Given the description of an element on the screen output the (x, y) to click on. 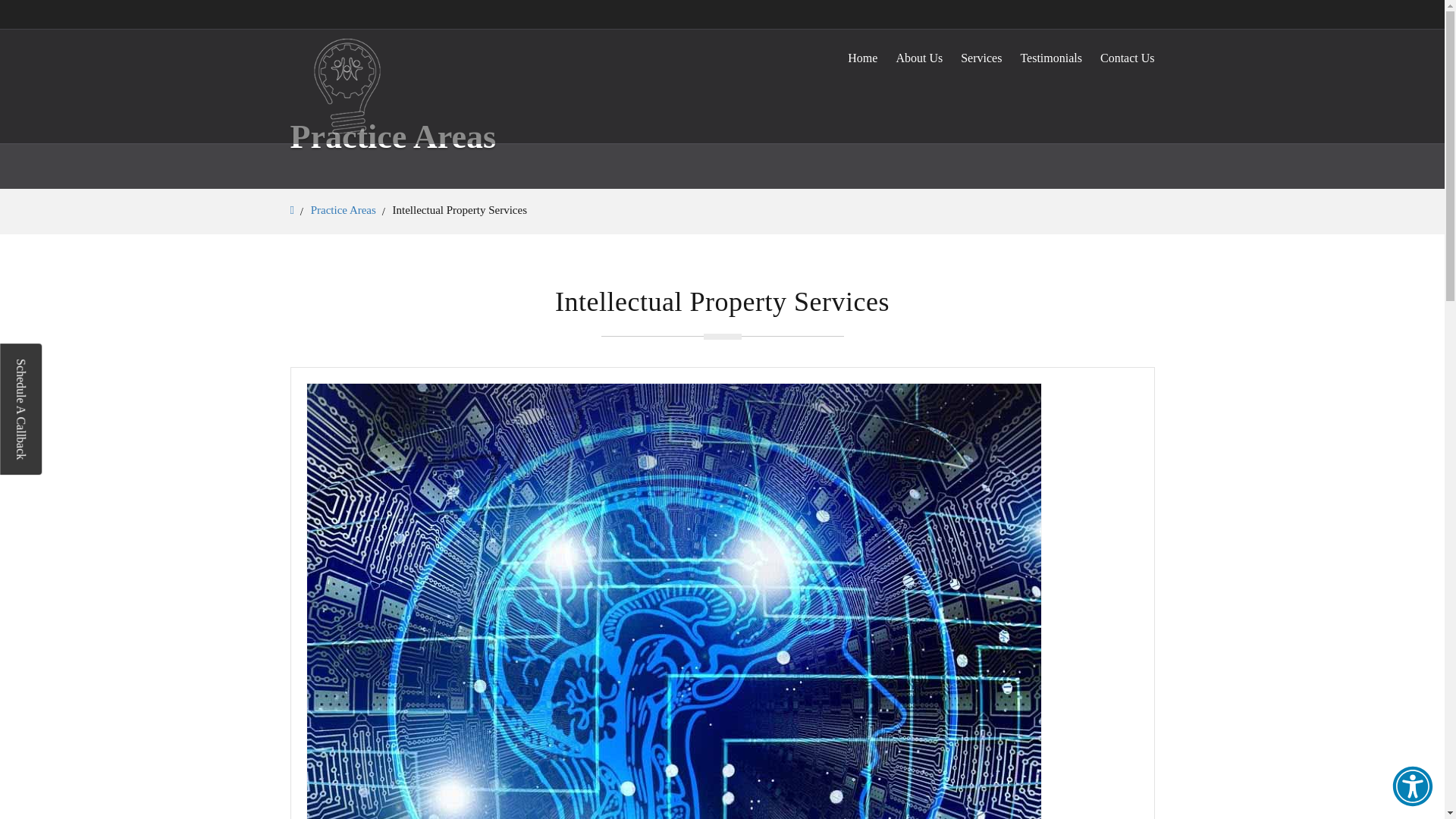
Practice Areas (343, 209)
Services (980, 57)
Contact Us (1127, 57)
Home (862, 57)
Testimonials (1050, 57)
About Us (918, 57)
